Given the description of an element on the screen output the (x, y) to click on. 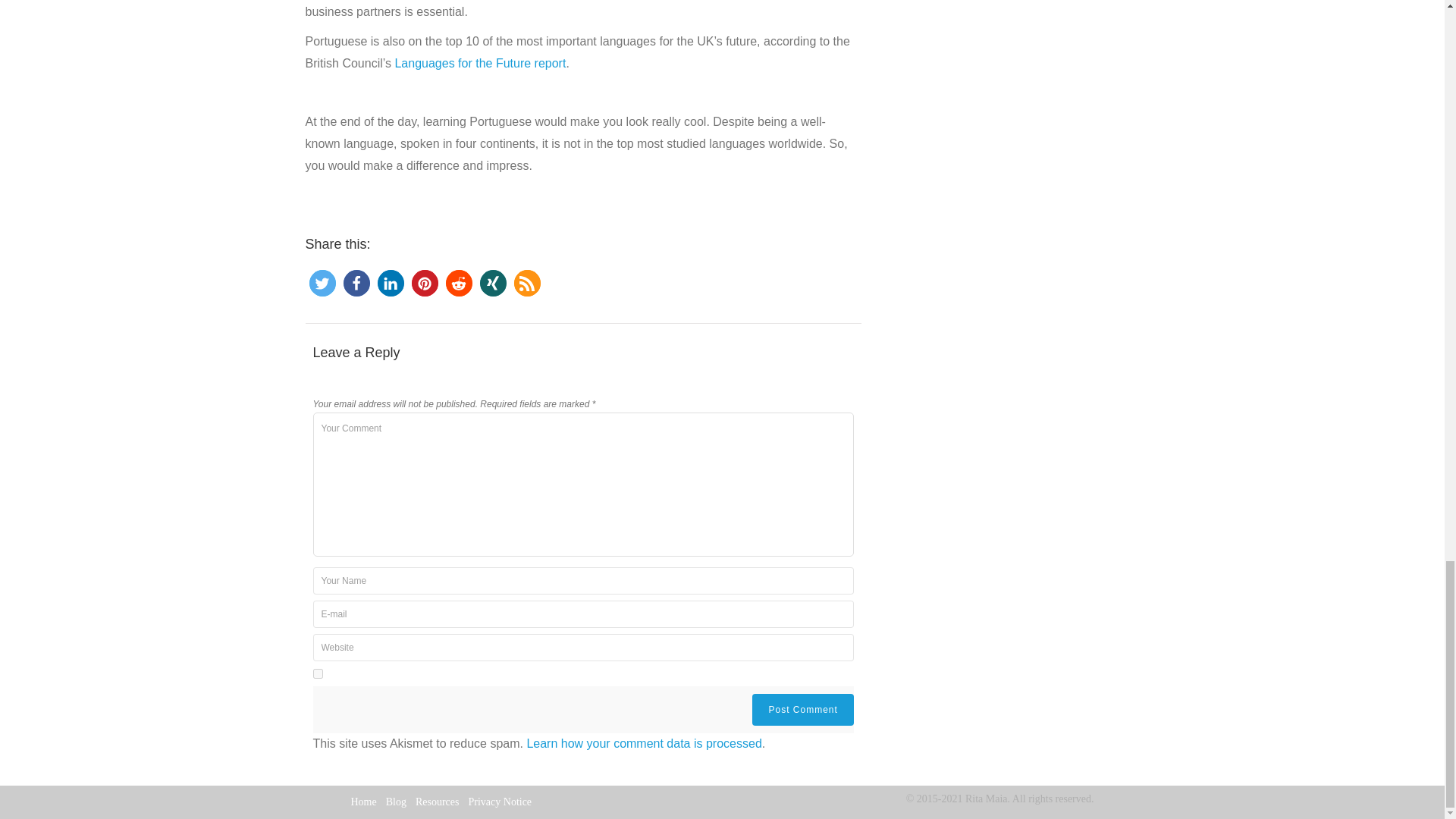
Share on Reddit (458, 283)
Share on Twitter (322, 283)
Share on LinkedIn (390, 283)
RSS feed (526, 283)
Post Comment (802, 709)
Post Comment (802, 709)
yes (317, 673)
Languages for the Future report (480, 62)
Share on XING (492, 283)
Learn how your comment data is processed (643, 743)
Pin it on Pinterest (424, 283)
Share on Facebook (355, 283)
